Given the description of an element on the screen output the (x, y) to click on. 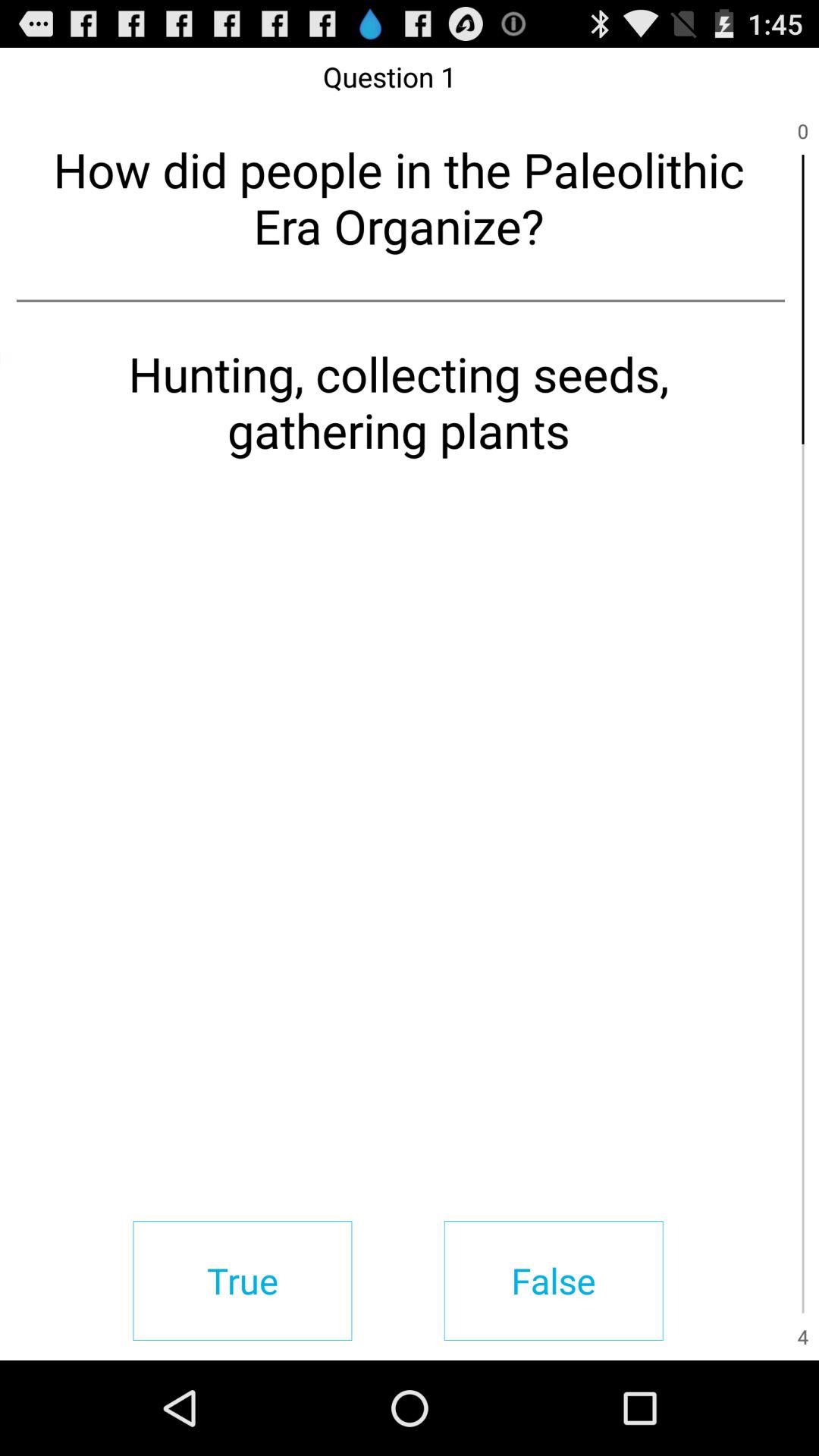
tap the icon to the right of the true item (553, 1280)
